Given the description of an element on the screen output the (x, y) to click on. 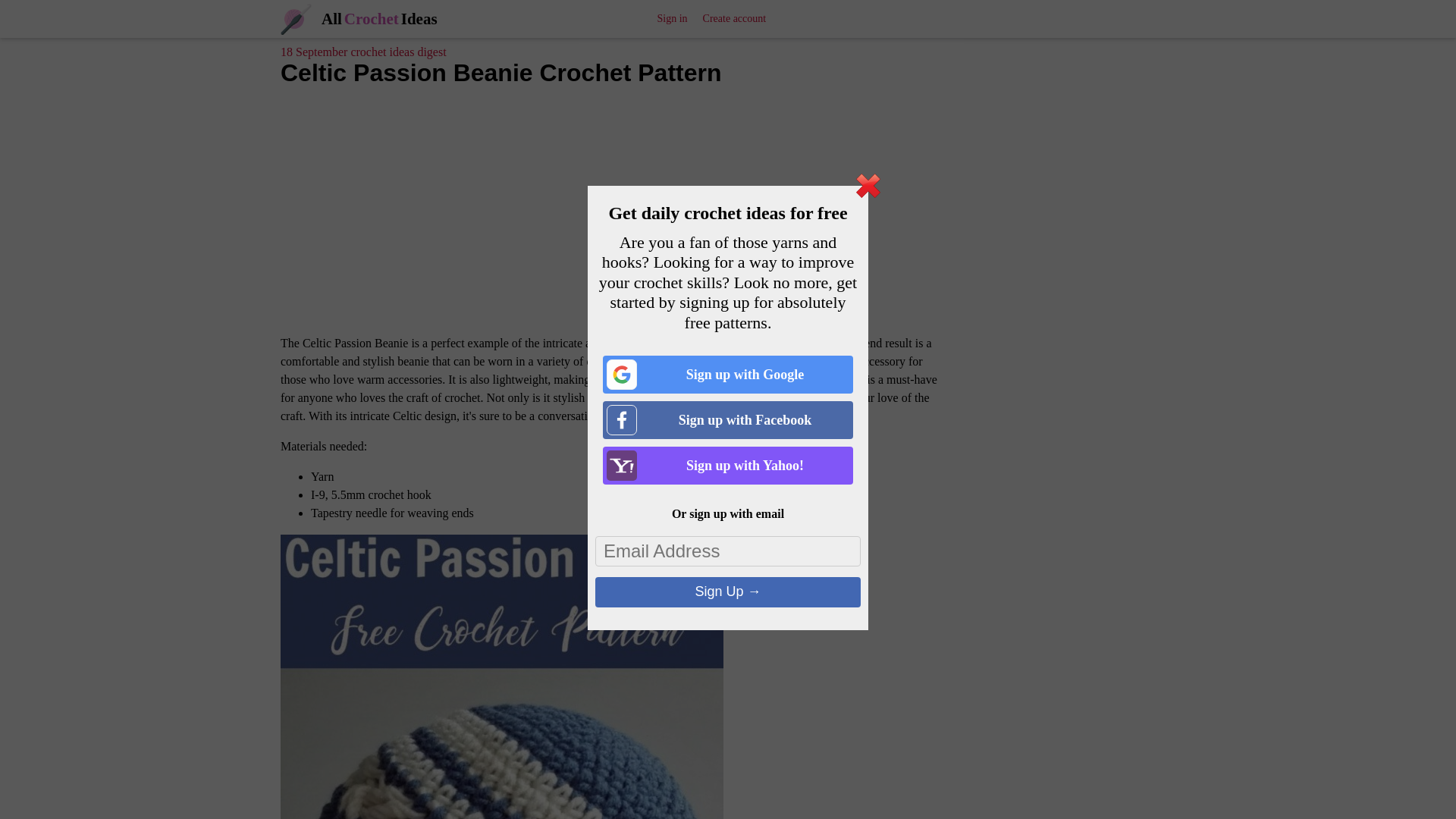
Sign up with Facebook (727, 419)
Sign up with Google (727, 374)
AllCrochetIdeas (359, 18)
Sign in (672, 18)
Sign up with Yahoo! (727, 465)
Create account (734, 18)
Create account (734, 18)
Sign in (672, 18)
18 September crochet ideas digest (363, 51)
